Given the description of an element on the screen output the (x, y) to click on. 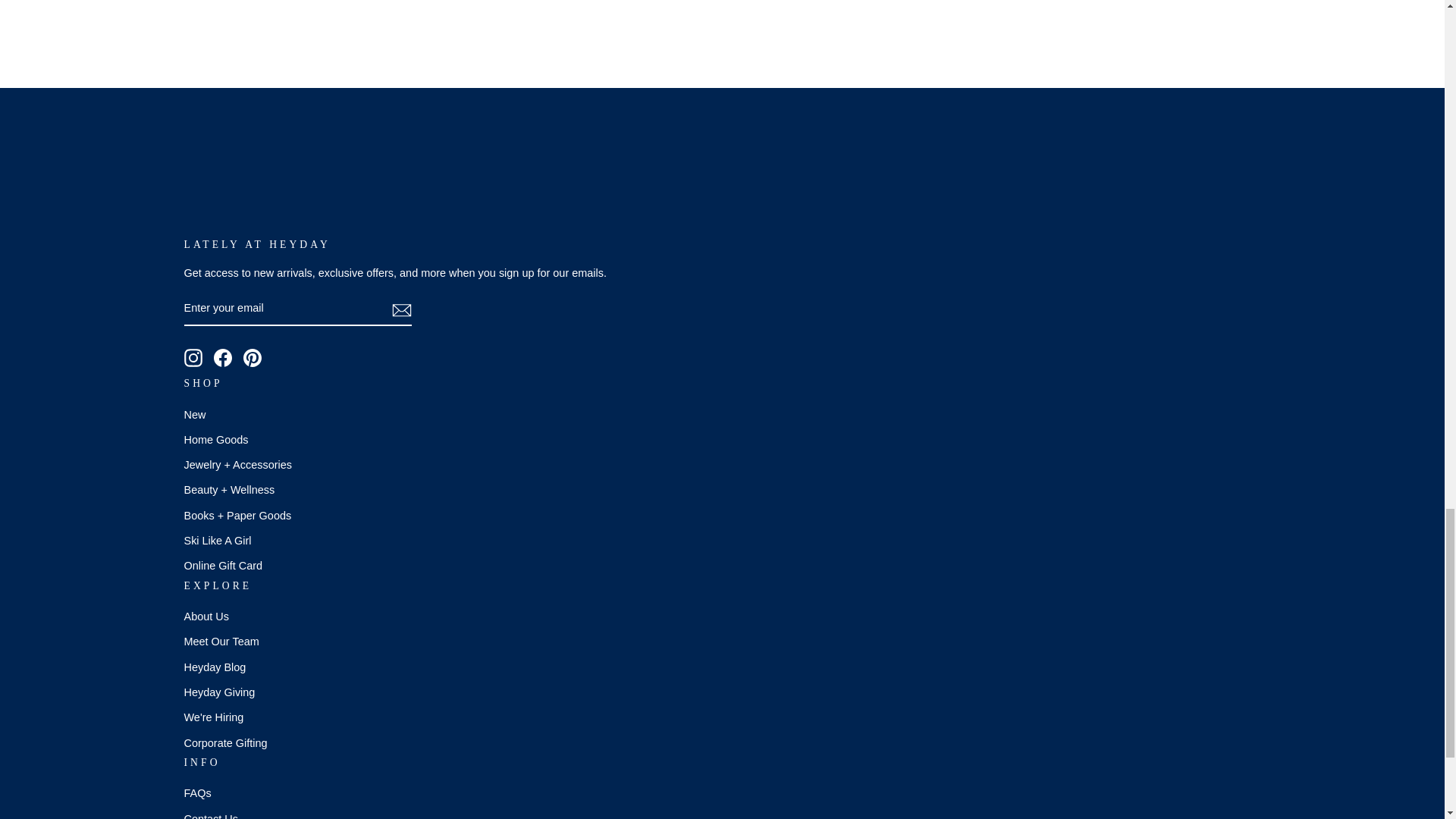
Heyday on Facebook (222, 357)
icon-email (400, 310)
instagram (192, 357)
Heyday on Pinterest (251, 357)
Heyday on Instagram (192, 357)
